Given the description of an element on the screen output the (x, y) to click on. 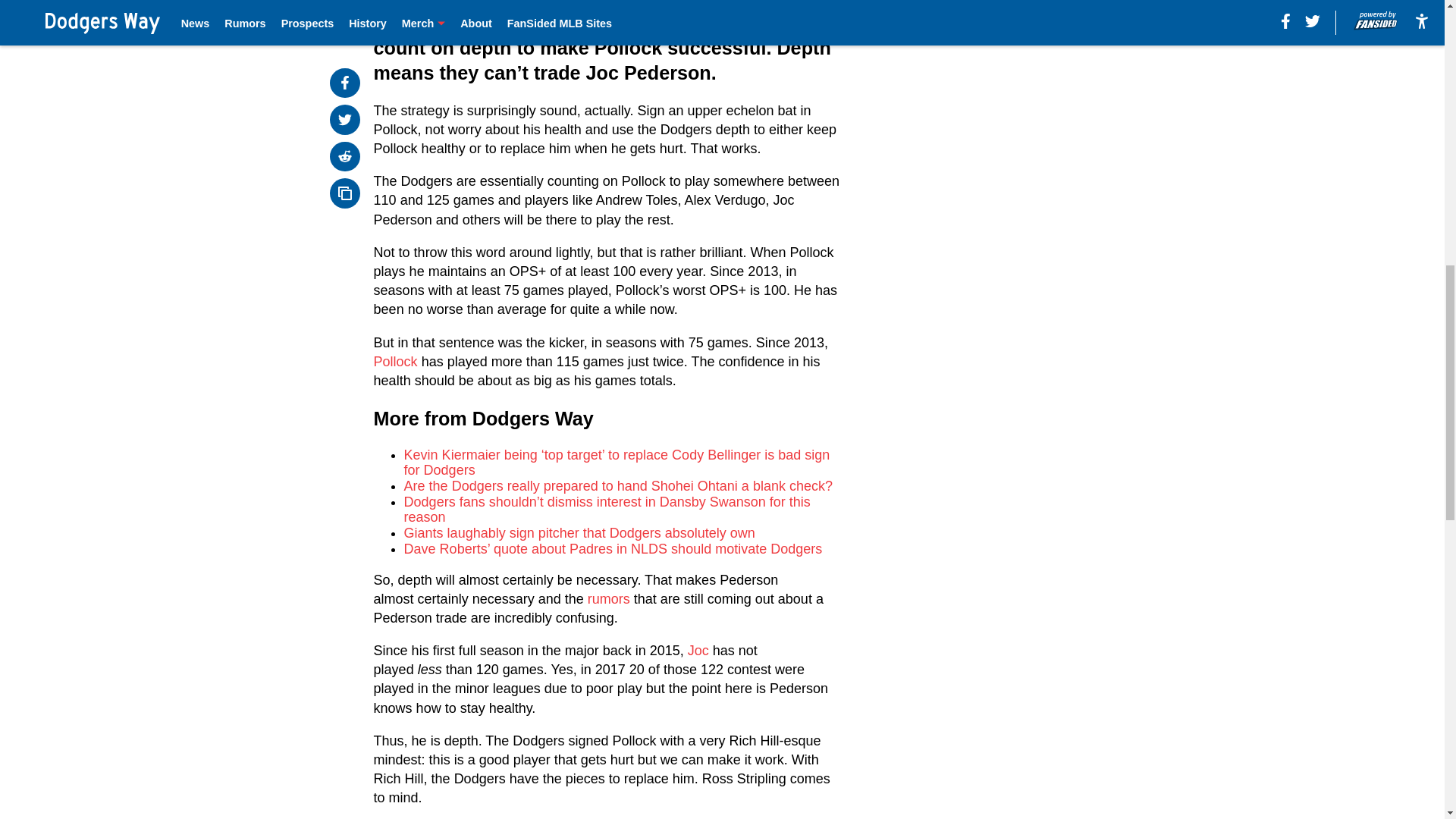
Giants laughably sign pitcher that Dodgers absolutely own (579, 532)
Pollock (395, 361)
Joc (698, 650)
rumors (609, 598)
